Given the description of an element on the screen output the (x, y) to click on. 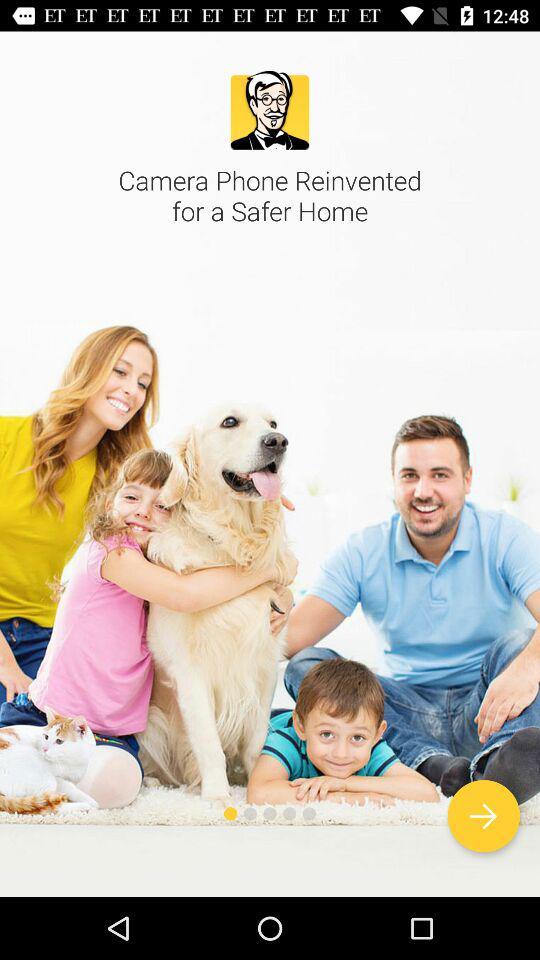
tap icon at the bottom right corner (483, 816)
